Given the description of an element on the screen output the (x, y) to click on. 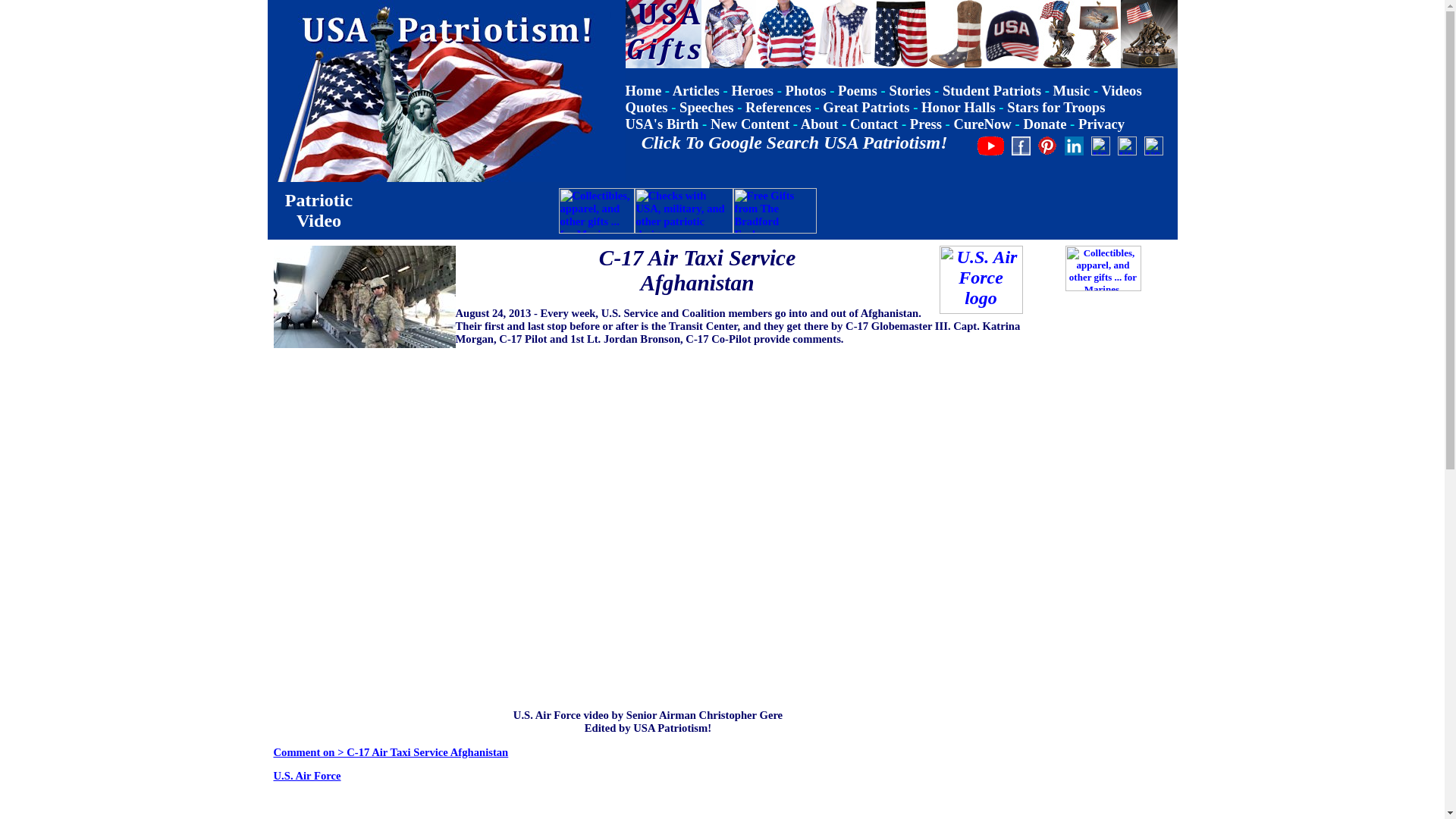
Honor Halls (958, 107)
Stars for Troops (1056, 107)
CureNow (982, 123)
Press (926, 123)
Articles (695, 90)
Stories (909, 90)
New Content (749, 123)
Student Patriots (991, 90)
References (777, 107)
Contact (874, 123)
